Given the description of an element on the screen output the (x, y) to click on. 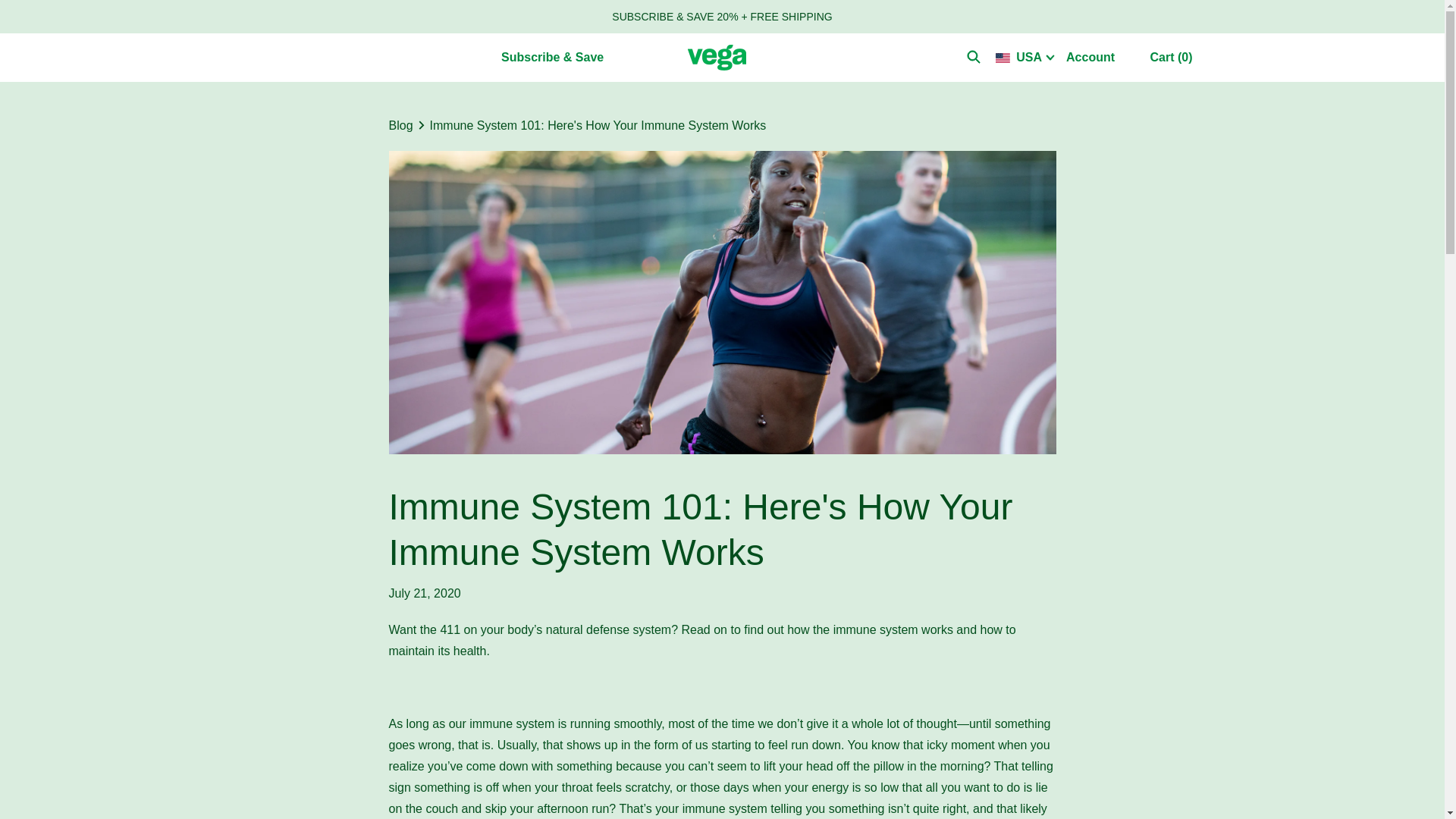
USA (1024, 57)
Shop (271, 55)
Why Vega (360, 55)
Account (1096, 57)
Learn (448, 55)
